Given the description of an element on the screen output the (x, y) to click on. 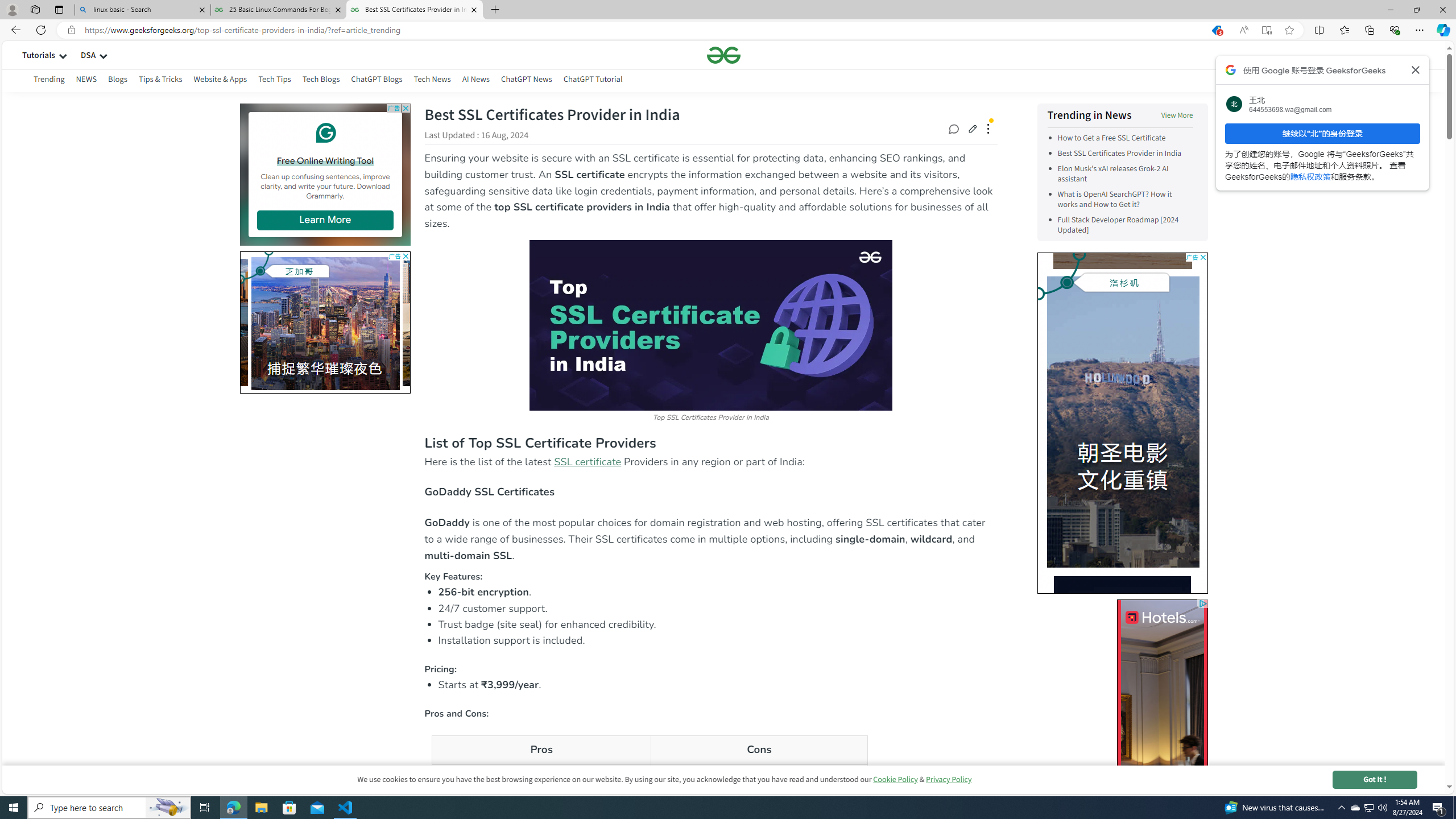
Elon Musk's xAI releases Grok-2 AI assistant (1113, 173)
25 Basic Linux Commands For Beginners - GeeksforGeeks (277, 9)
Privacy Policy (949, 779)
ChatGPT Blogs (376, 80)
Best SSL Certificates Provider in India (1119, 153)
Class: Bz112c Bz112c-r9oPif (1415, 69)
Full Stack Developer Roadmap [2024 Updated] (1118, 224)
What is OpenAI SearchGPT? How it works and How to Get it? (1125, 199)
Tech News (432, 79)
Tutorials (38, 55)
